Given the description of an element on the screen output the (x, y) to click on. 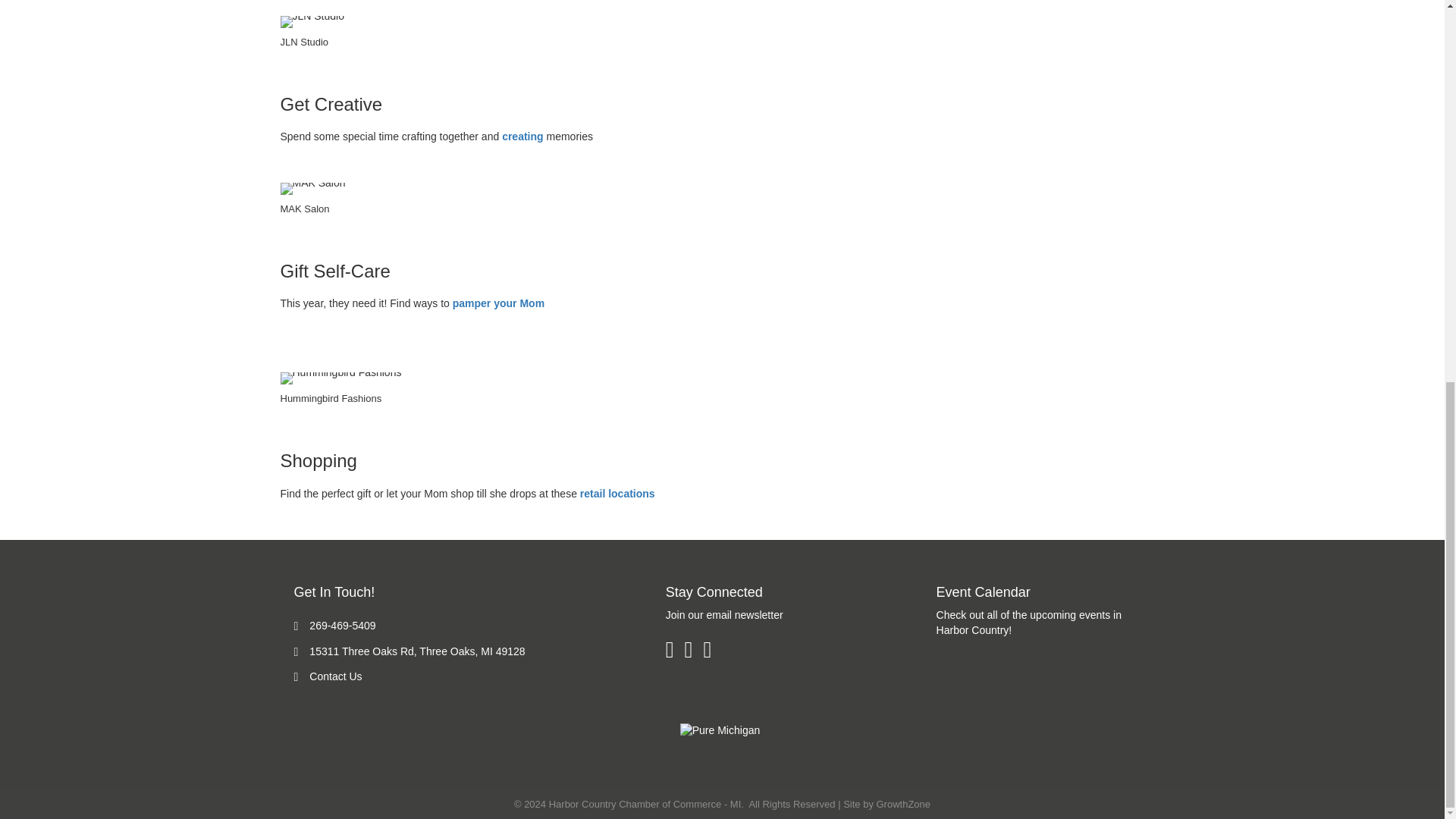
ladies shopping (341, 378)
vday2 (313, 188)
painting (312, 21)
